Given the description of an element on the screen output the (x, y) to click on. 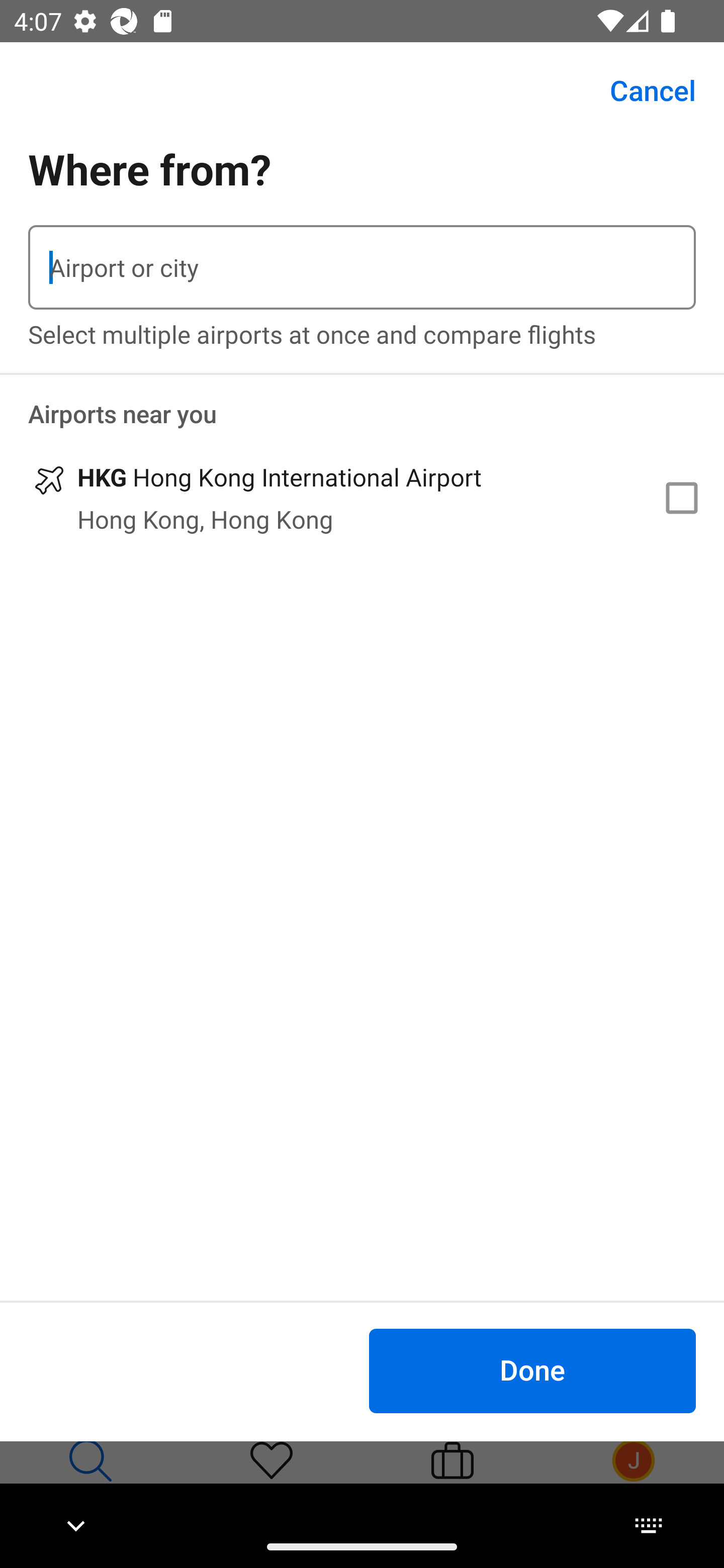
Cancel (641, 90)
Airport or city (361, 266)
Done (532, 1370)
